Given the description of an element on the screen output the (x, y) to click on. 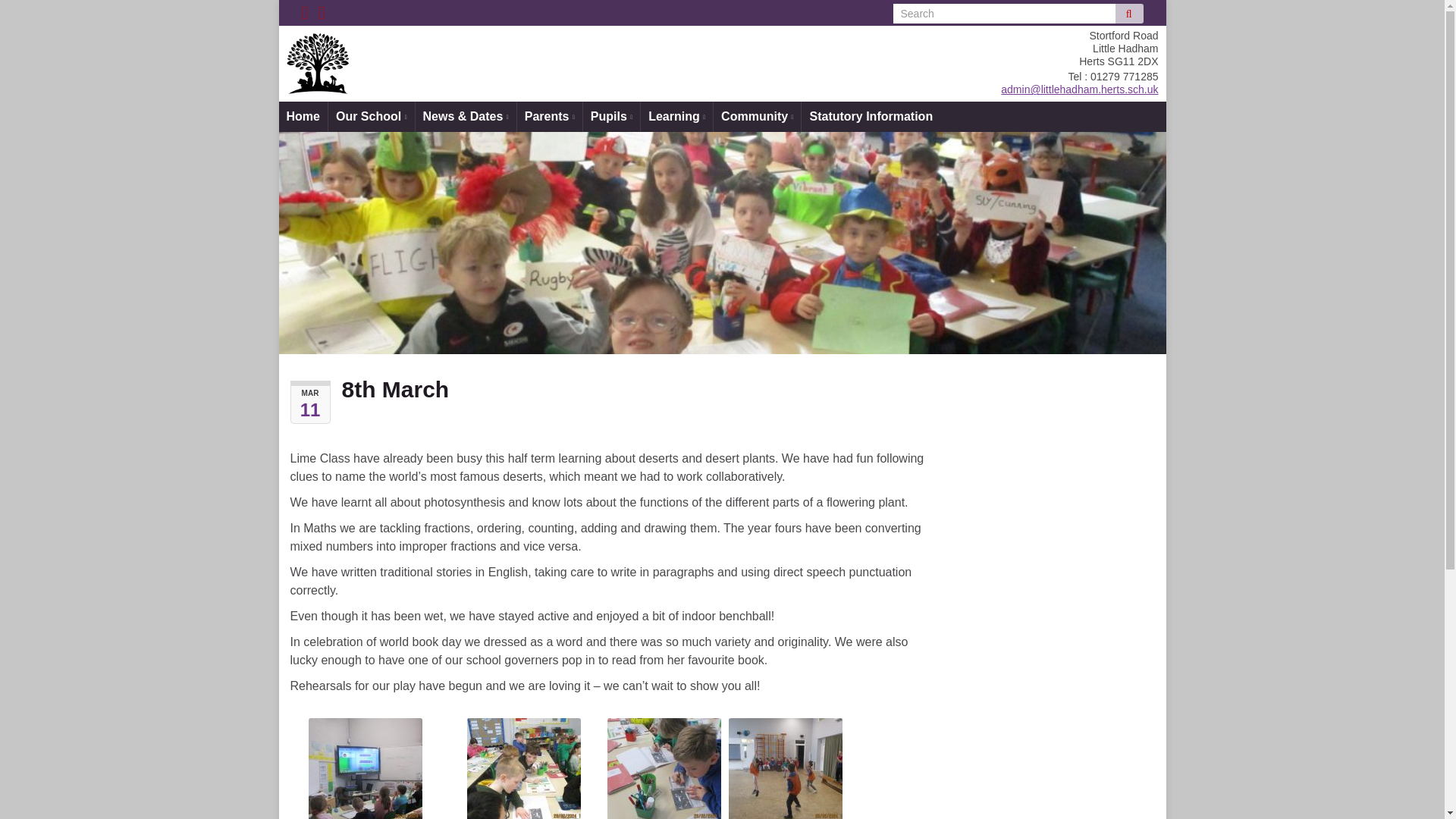
Little Hadham Primary School (560, 50)
Go back to the front page (560, 50)
Parents (549, 116)
Home (303, 116)
Our School (371, 116)
Little Hadham Primary School (314, 63)
Pupils (611, 116)
